Given the description of an element on the screen output the (x, y) to click on. 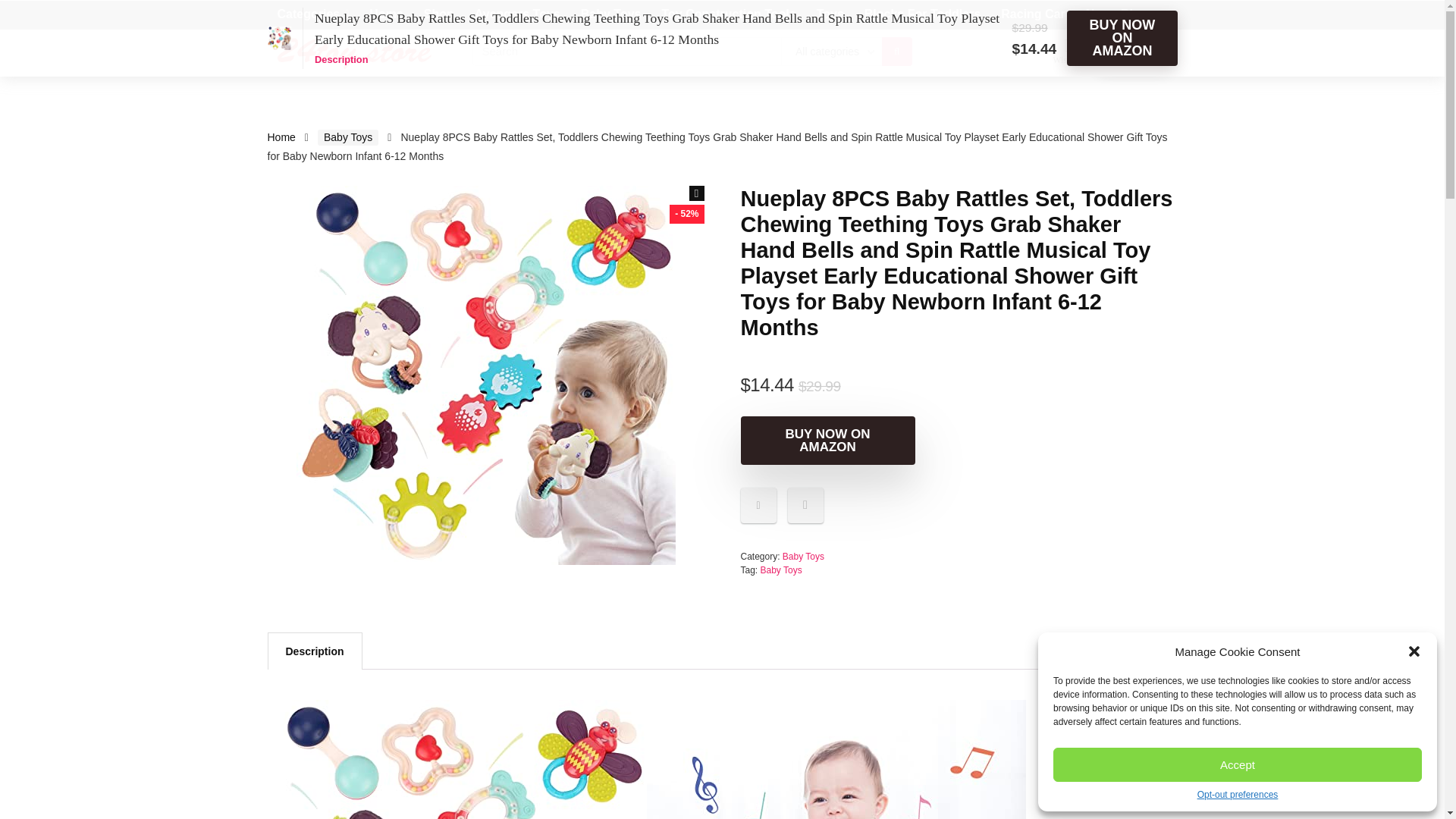
Avengers Toys (517, 14)
Toy Construction Tools (727, 14)
Opt-out preferences (1237, 794)
Racing Car (1032, 14)
Shop (438, 14)
Baby Toys (610, 14)
News Blog (1116, 14)
Home (385, 14)
Toys (829, 14)
Categories (312, 14)
